Given the description of an element on the screen output the (x, y) to click on. 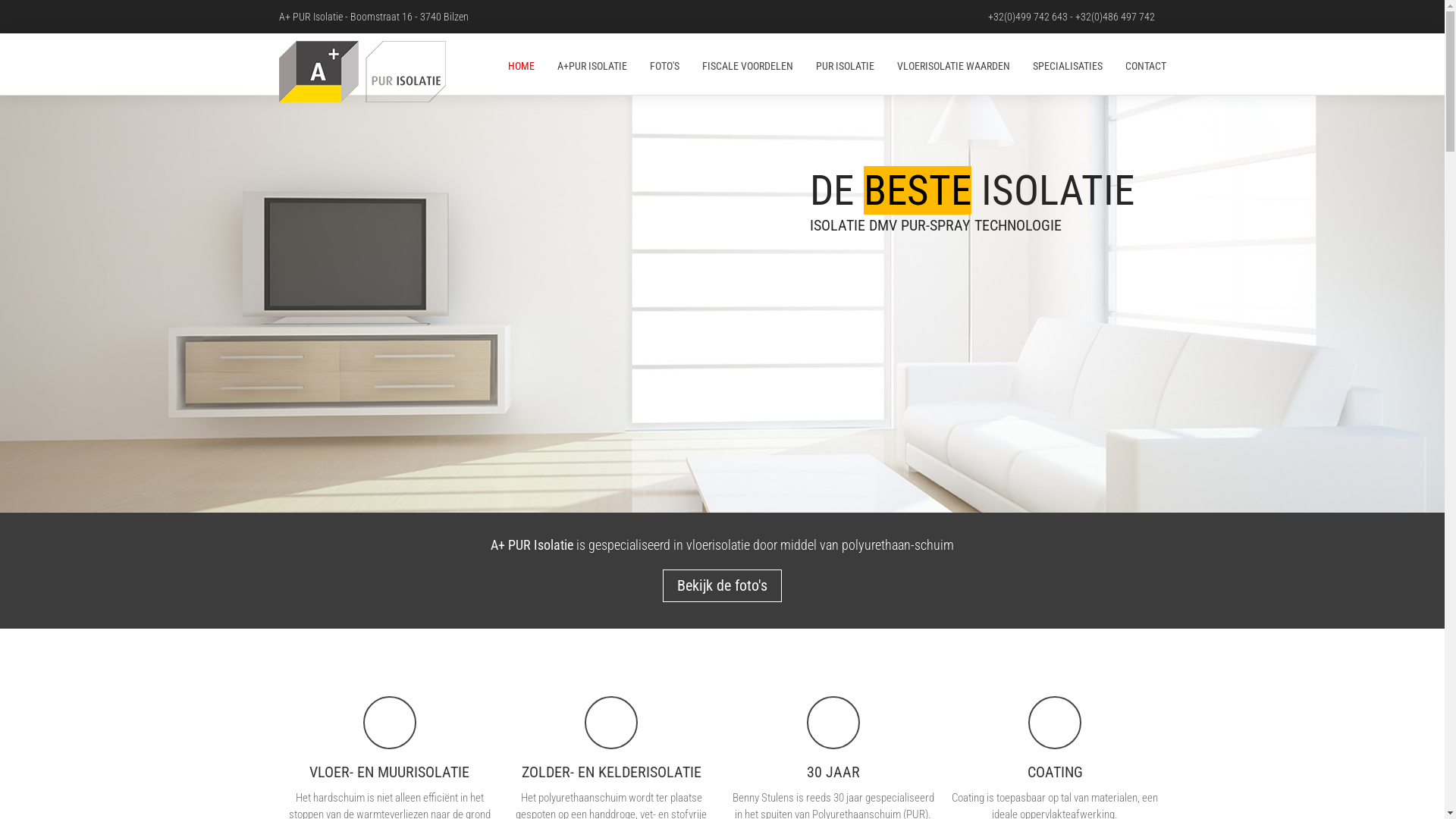
FOTO'S Element type: text (664, 64)
SPECIALISATIES Element type: text (1066, 64)
Bekijk de foto's Element type: text (721, 585)
PUR ISOLATIE Element type: text (843, 64)
FISCALE VOORDELEN Element type: text (746, 64)
HOME Element type: text (527, 64)
VLOERISOLATIE WAARDEN Element type: text (953, 64)
CONTACT Element type: text (1139, 64)
A+PUR ISOLATIE Element type: text (592, 64)
